Given the description of an element on the screen output the (x, y) to click on. 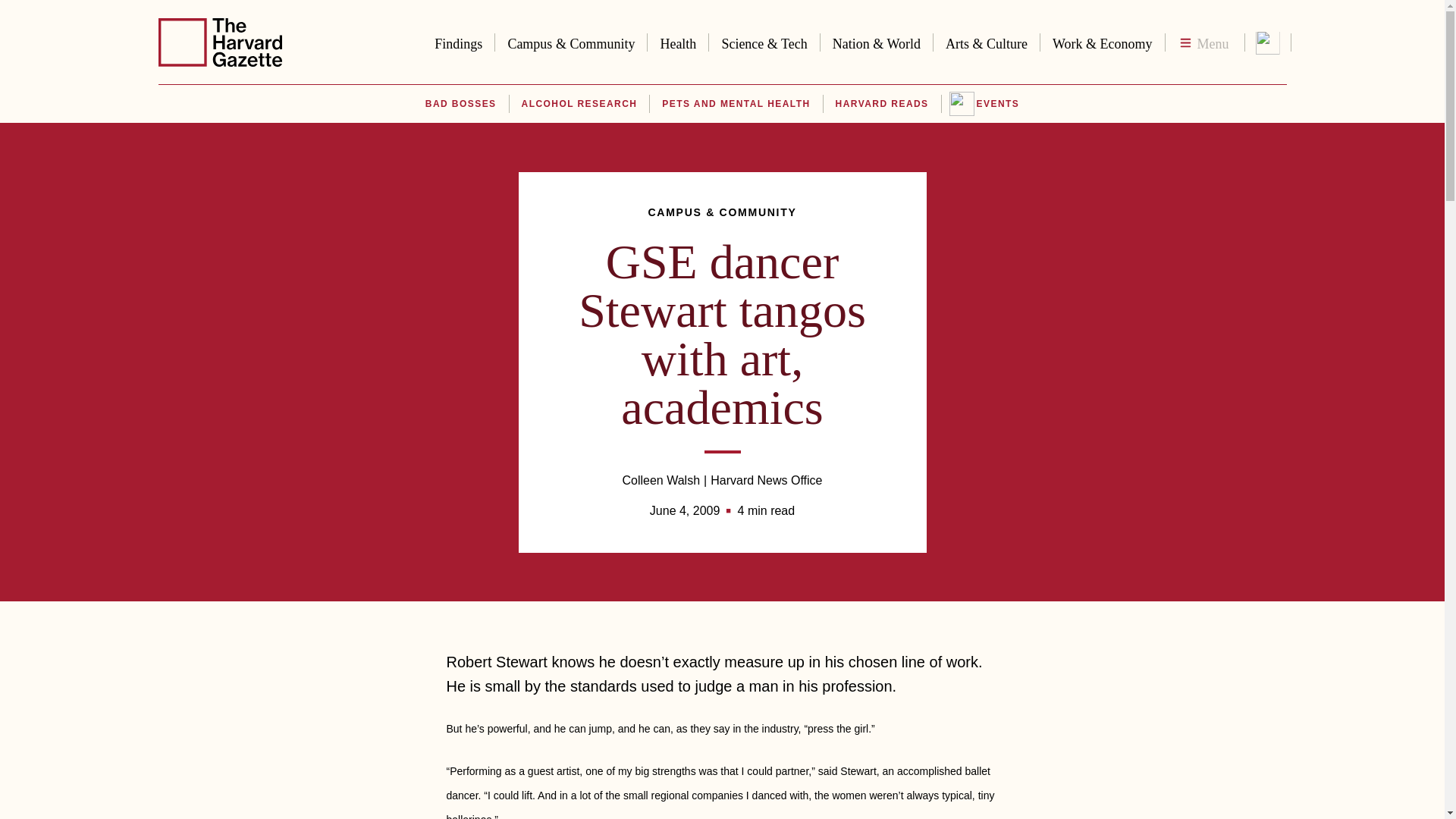
Menu (1204, 42)
ALCOHOL RESEARCH (579, 103)
Findings (457, 41)
Health (677, 41)
BAD BOSSES (460, 103)
